Given the description of an element on the screen output the (x, y) to click on. 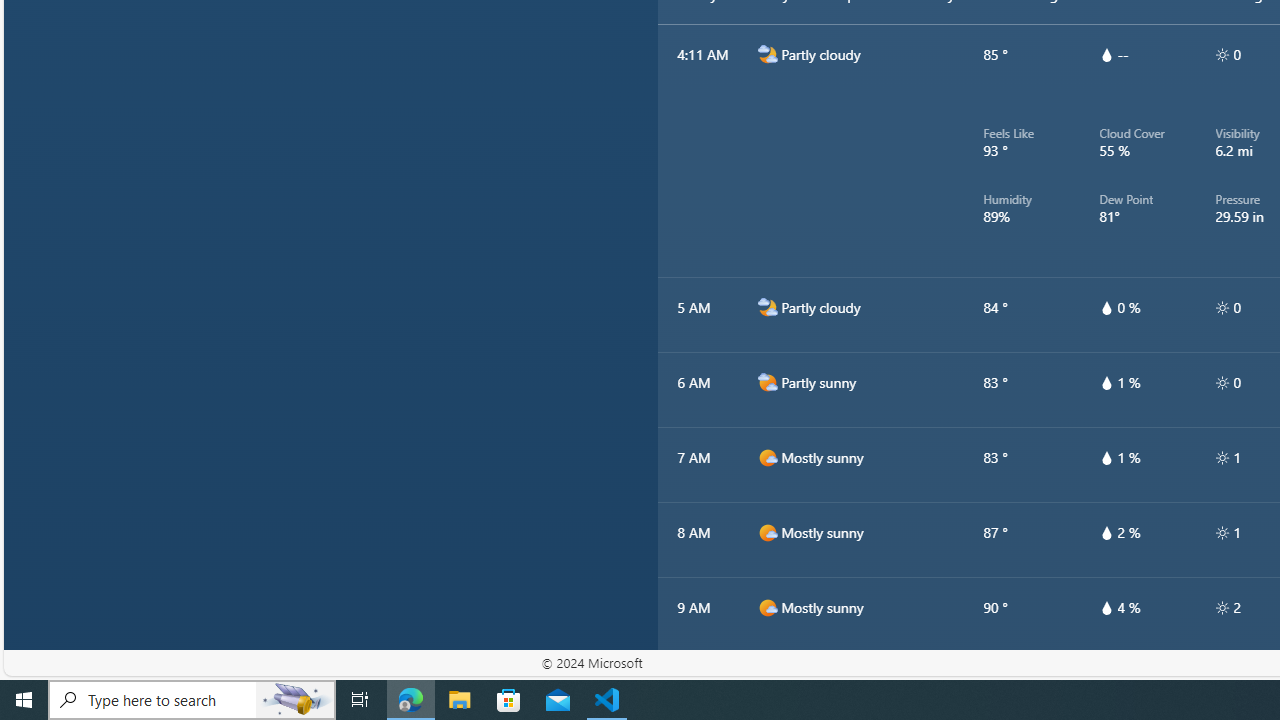
n2000 (767, 308)
hourlyTable/uv (1222, 607)
d1000 (767, 682)
d2000 (767, 382)
hourlyTable/drop (1106, 607)
